Given the description of an element on the screen output the (x, y) to click on. 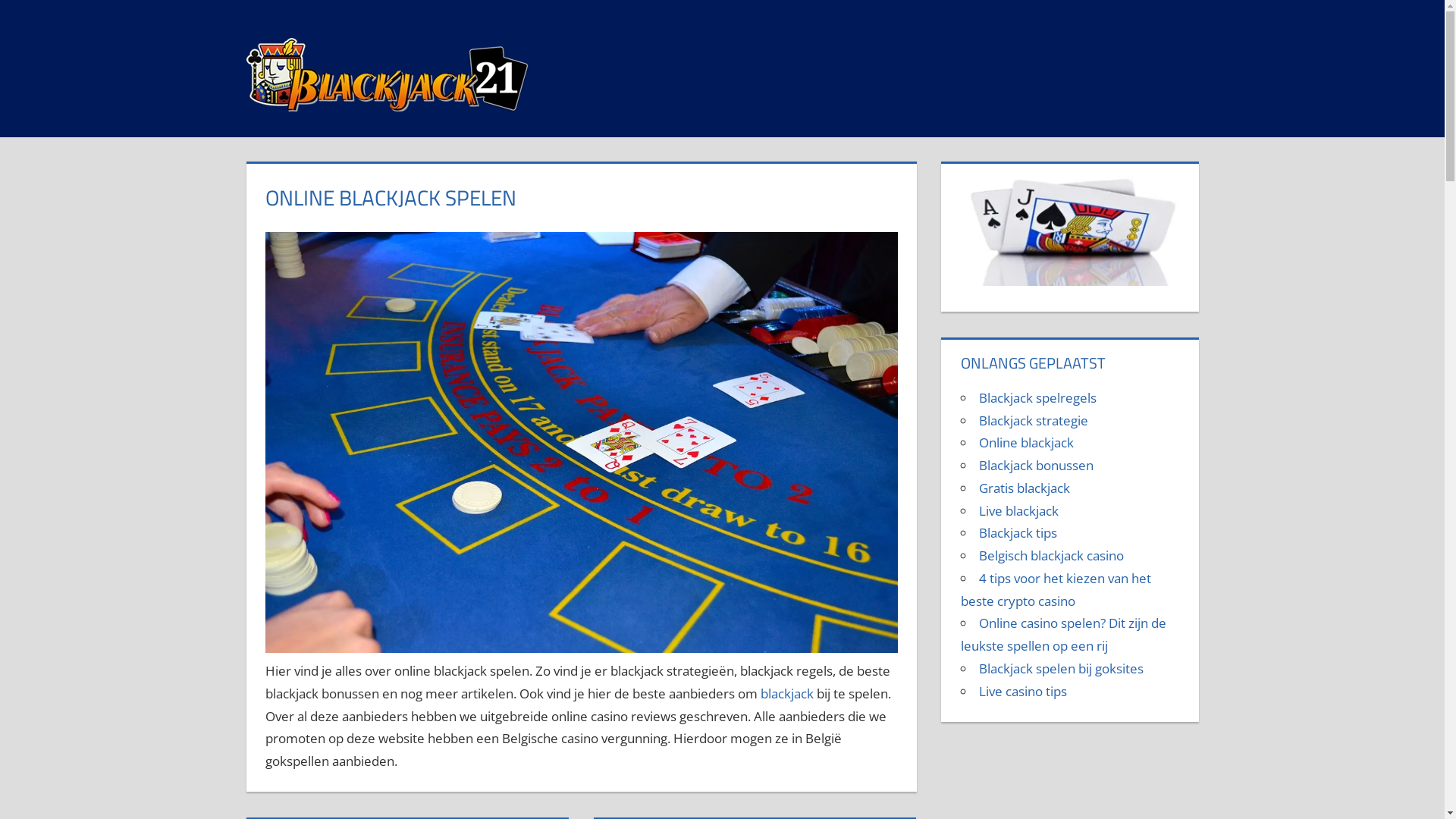
4 tips voor het kiezen van het beste crypto casino Element type: text (1055, 589)
Gratis blackjack Element type: text (1024, 487)
BLACKJACK21 Element type: text (622, 48)
Live blackjack Element type: text (1018, 510)
Live casino tips Element type: text (1022, 690)
Online blackjack Element type: text (1026, 442)
Online casino spelen? Dit zijn de leukste spellen op een rij Element type: text (1063, 634)
Blackjack spelregels Element type: text (1037, 397)
Blackjack spelen bij goksites Element type: text (1061, 668)
blackjack Element type: text (786, 693)
Belgisch blackjack casino Element type: text (1051, 555)
Blackjack tips Element type: text (1018, 532)
Blackjack strategie Element type: text (1033, 420)
Blackjack bonussen Element type: text (1036, 464)
